Given the description of an element on the screen output the (x, y) to click on. 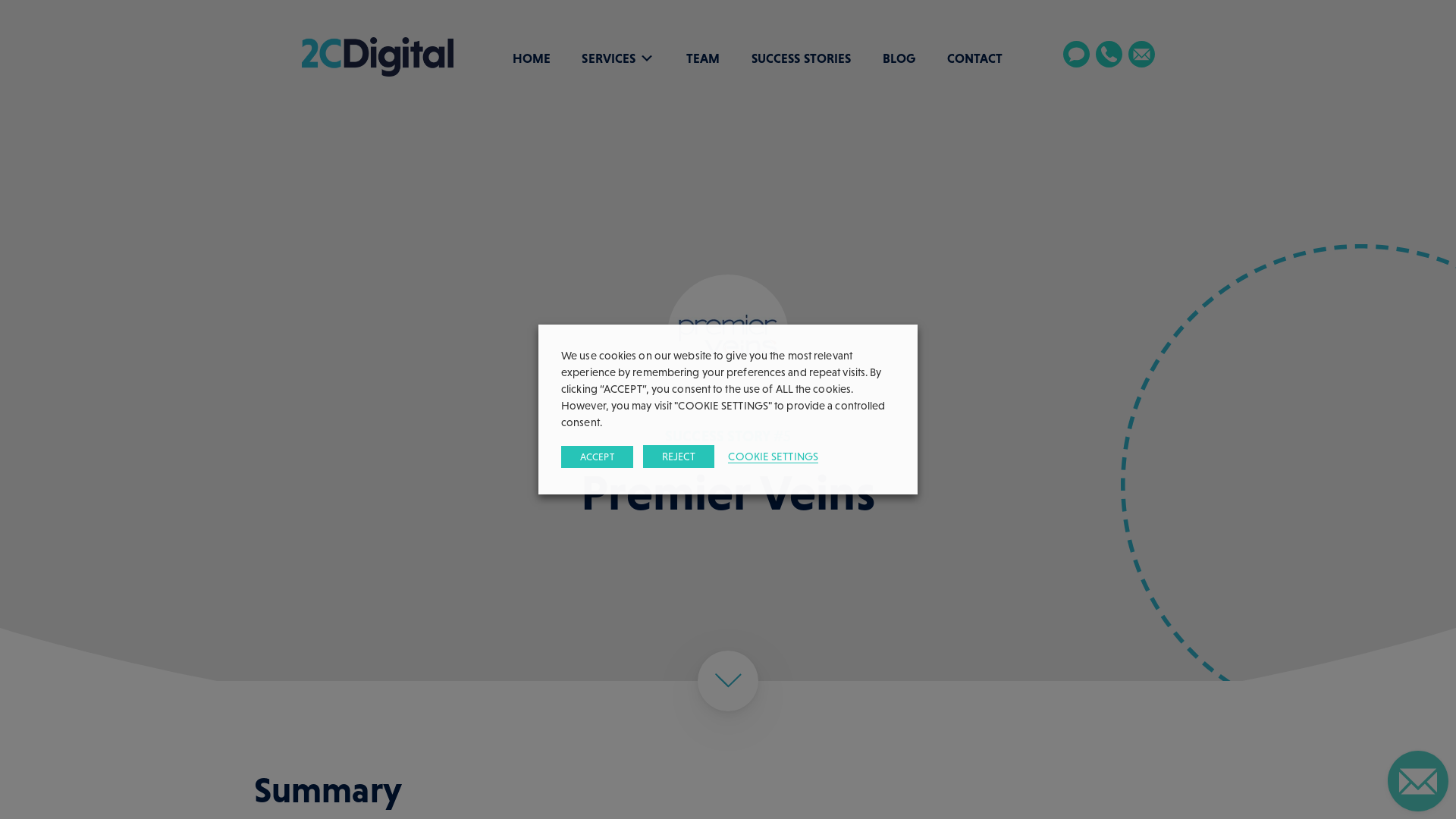
Send us an email Element type: hover (1141, 61)
COOKIE SETTINGS Element type: text (773, 456)
Call us Element type: hover (1108, 61)
REJECT Element type: text (679, 456)
ACCEPT Element type: text (597, 456)
TEAM Element type: text (702, 57)
Chat with us Element type: hover (1076, 61)
HOME Element type: text (531, 57)
SUCCESS STORIES Element type: text (801, 57)
SERVICES Element type: text (608, 57)
BLOG Element type: text (898, 57)
CONTACT Element type: text (975, 57)
2C Digital Marketing Home Element type: hover (377, 56)
